Given the description of an element on the screen output the (x, y) to click on. 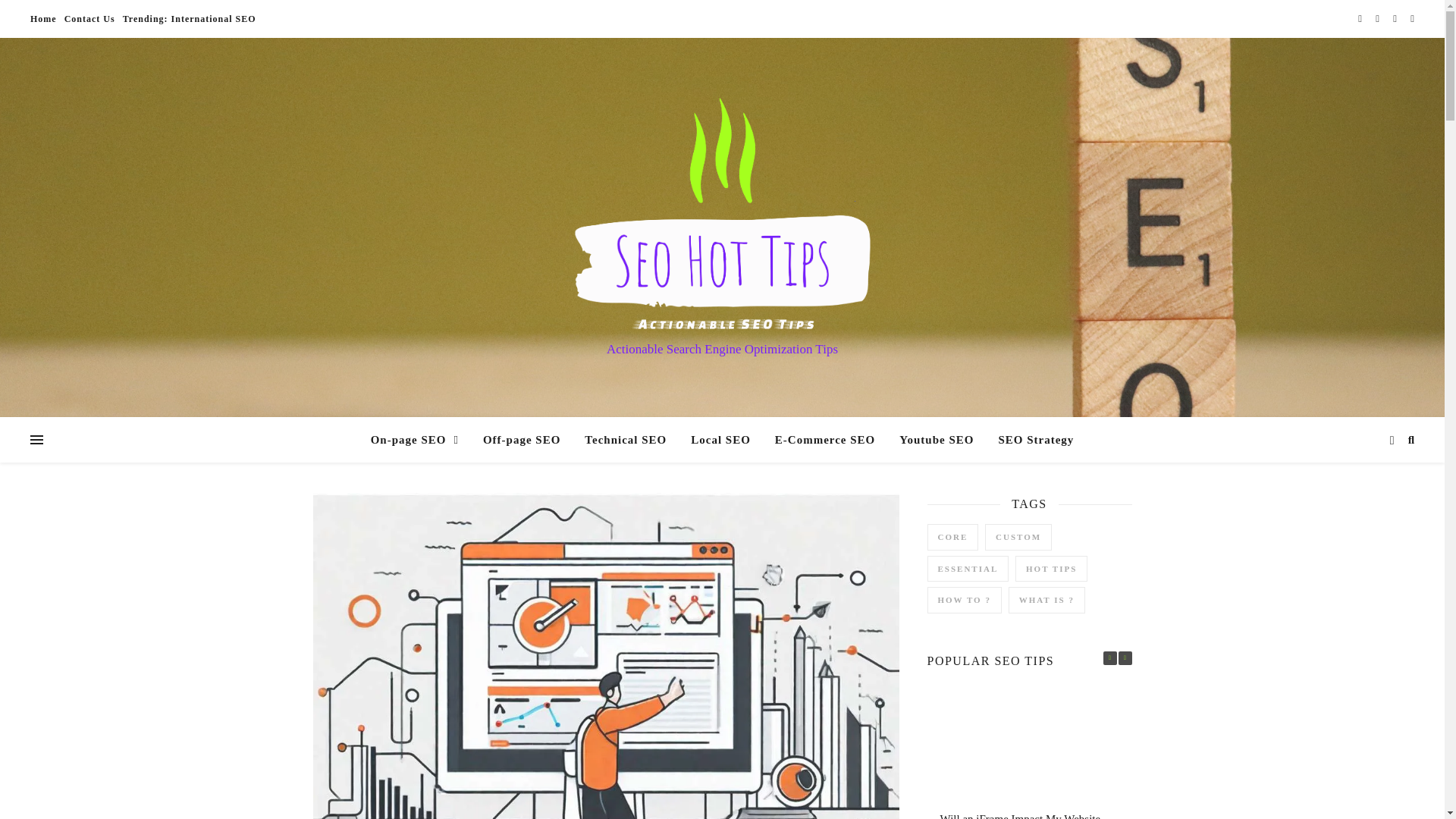
Technical SEO (625, 439)
Trending: International SEO (187, 18)
Local SEO (720, 439)
Youtube SEO (935, 439)
SEO Strategy (1029, 439)
Off-page SEO (521, 439)
E-Commerce SEO (824, 439)
On-page SEO (420, 439)
SEO Hot Tips (722, 213)
